Given the description of an element on the screen output the (x, y) to click on. 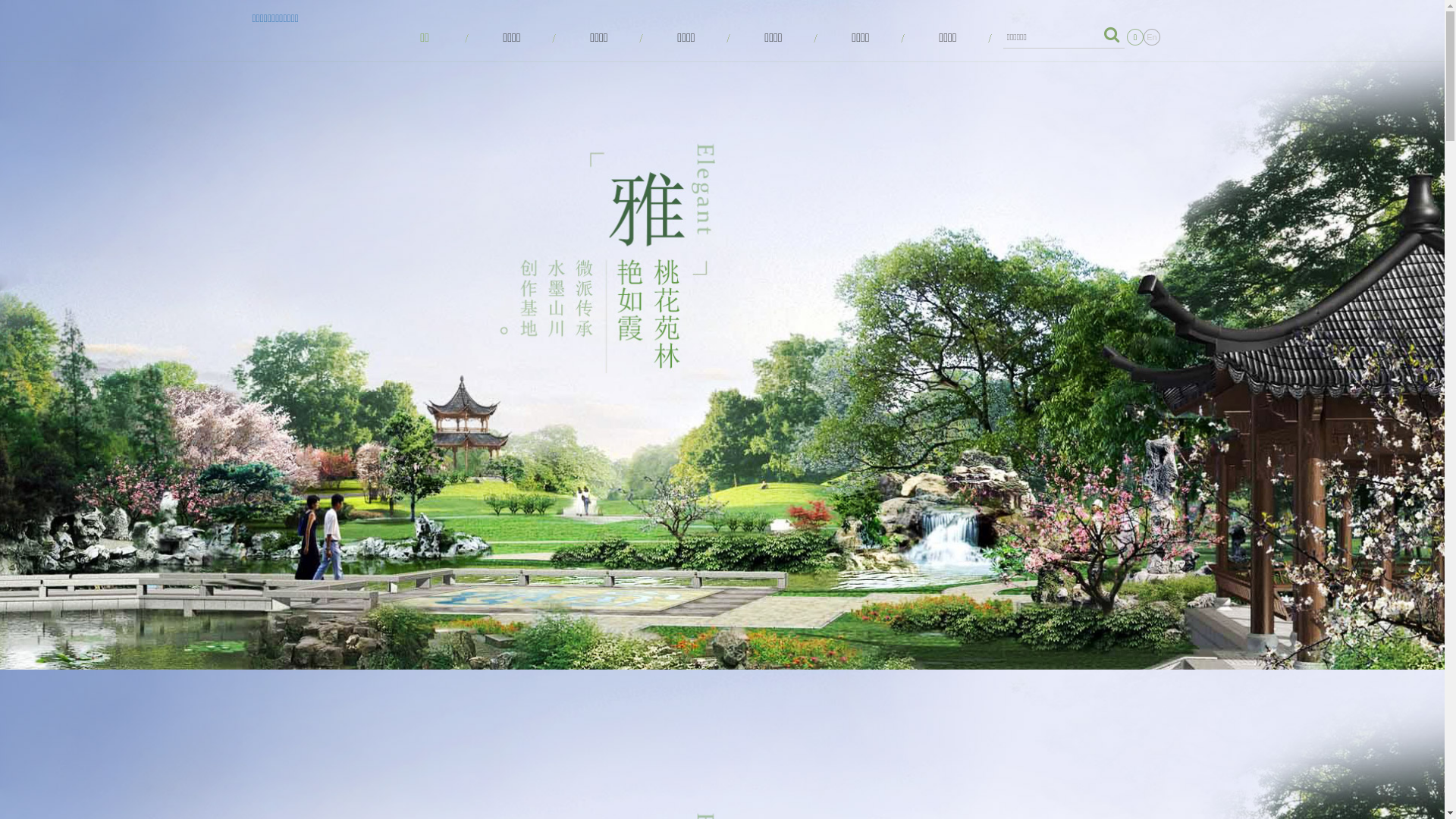
En Element type: text (1151, 36)
